Given the description of an element on the screen output the (x, y) to click on. 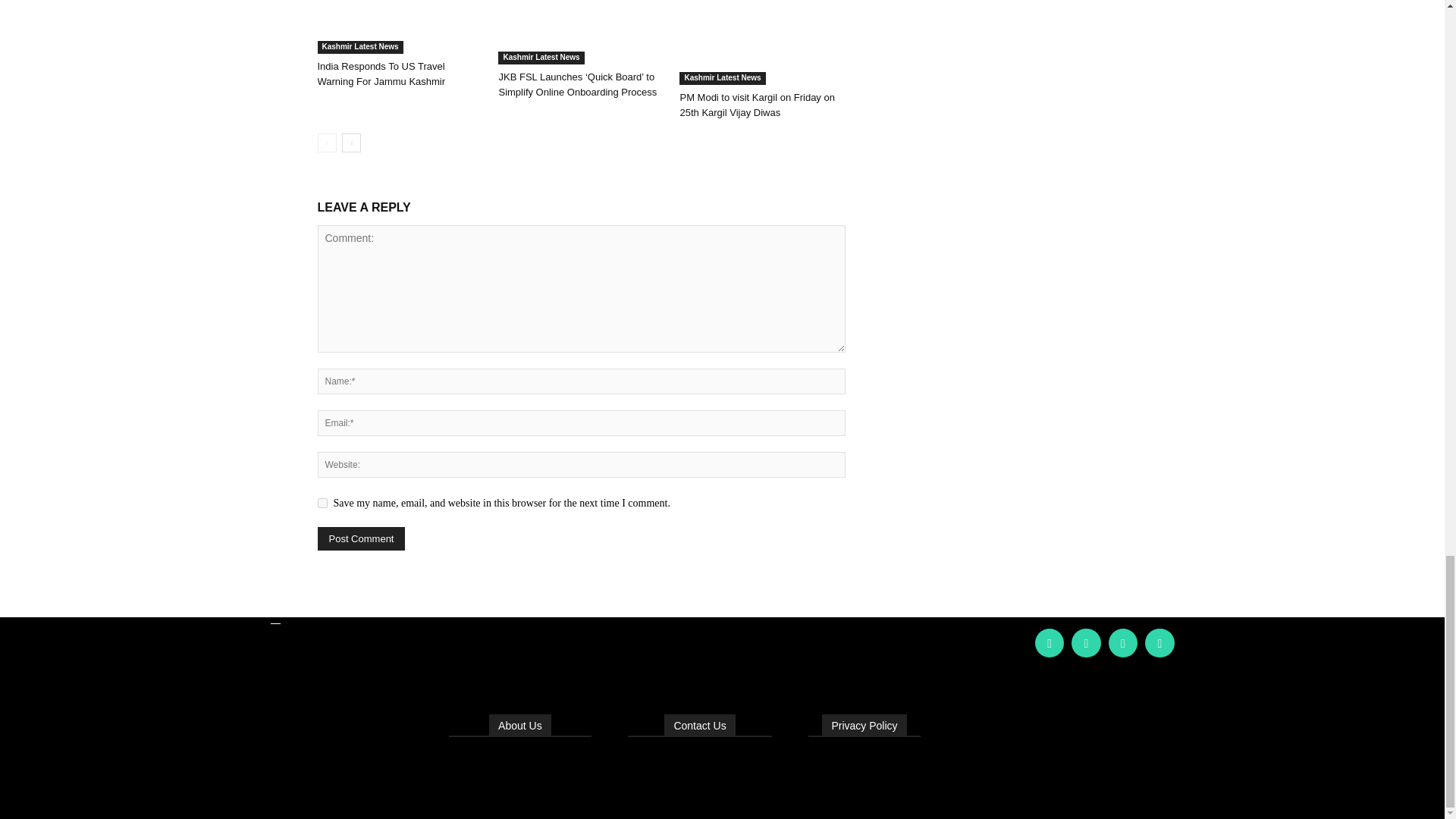
yes (321, 502)
Post Comment (360, 538)
